Given the description of an element on the screen output the (x, y) to click on. 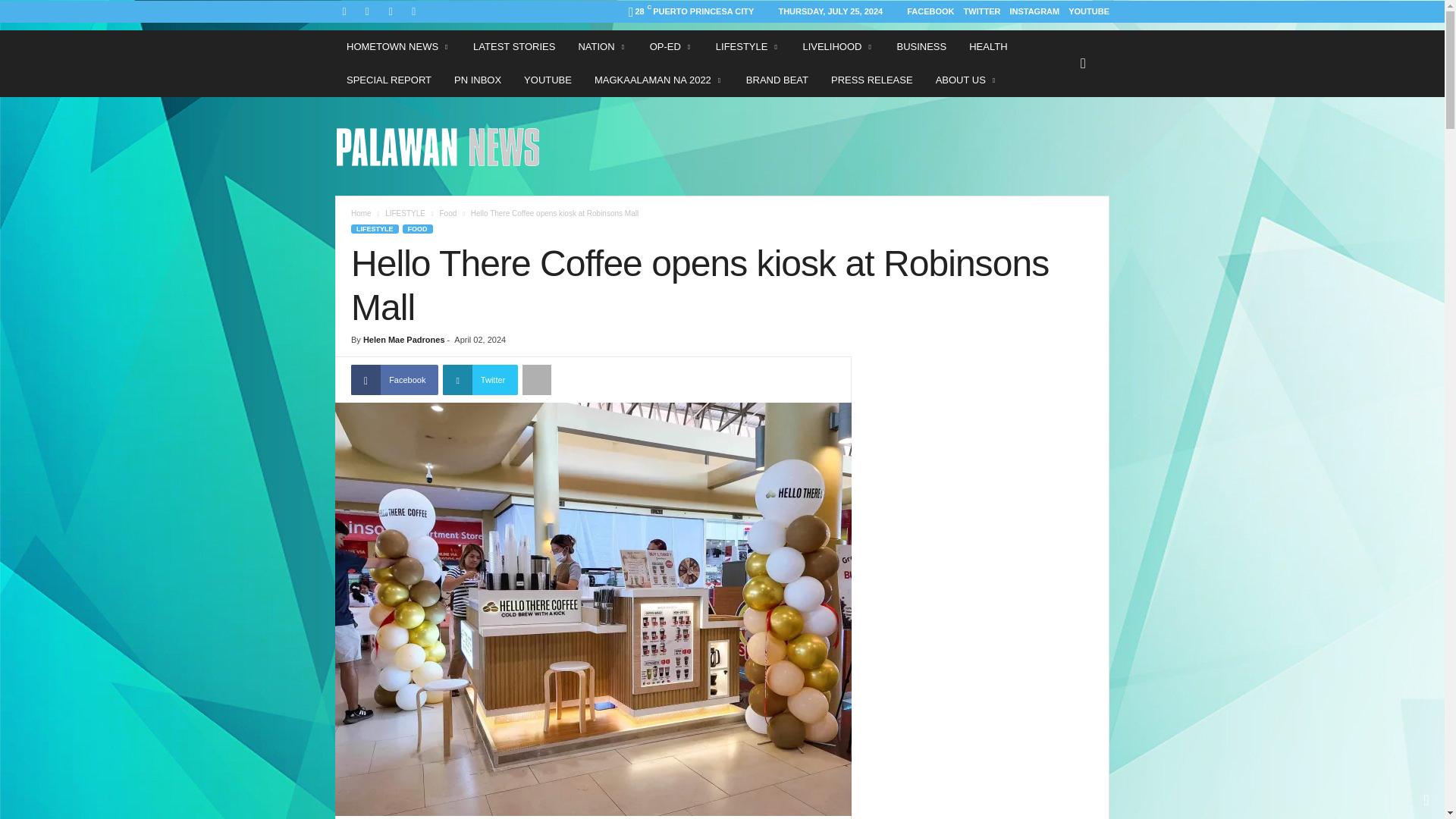
Palawan News (438, 146)
View all posts in LIFESTYLE (405, 213)
View all posts in Food (448, 213)
